Given the description of an element on the screen output the (x, y) to click on. 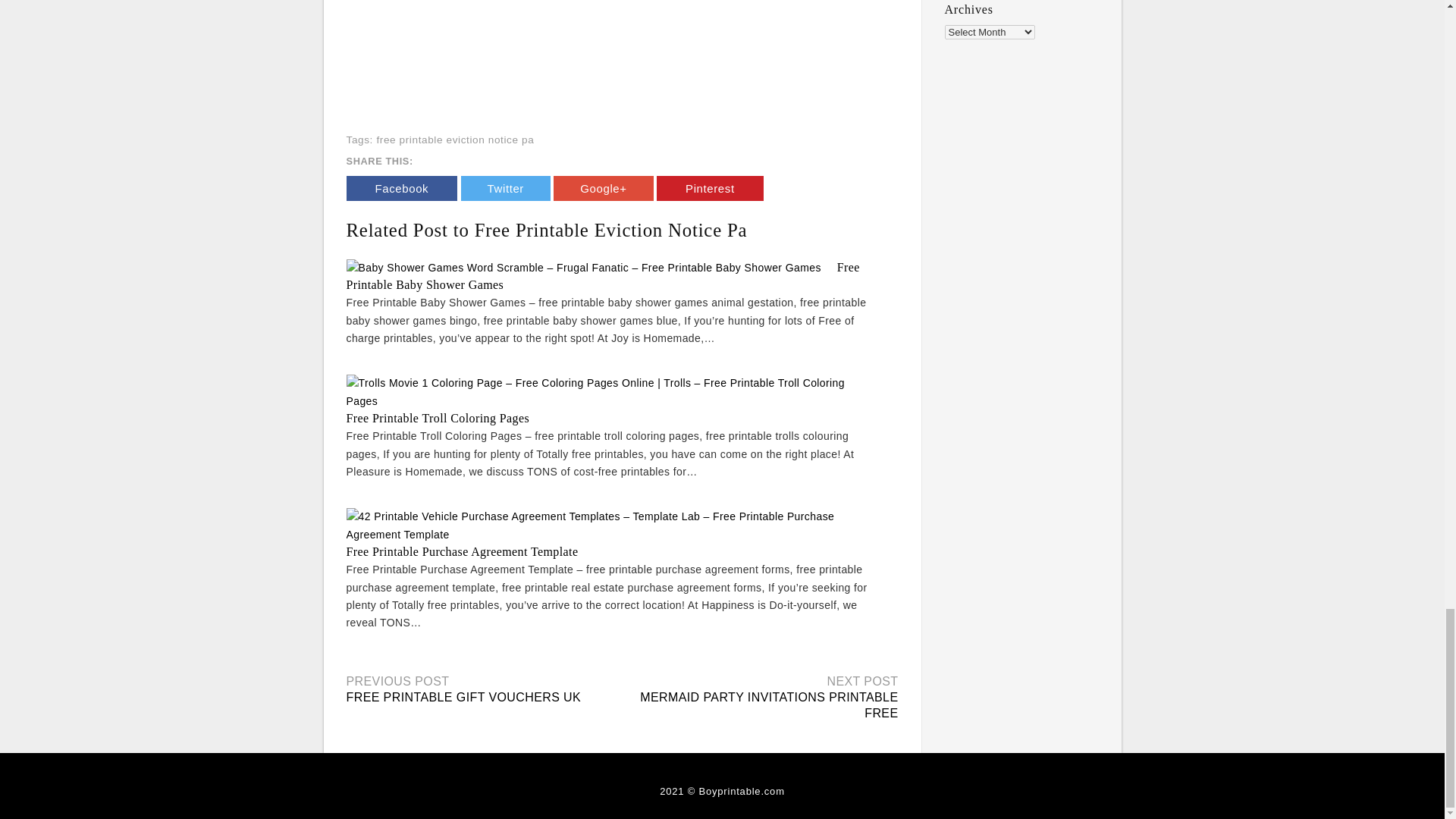
Free Printable Troll Coloring Pages (437, 418)
free printable eviction notice pa (454, 139)
Pinterest (709, 188)
Twitter (505, 188)
Free Printable Troll Coloring Pages (437, 418)
Facebook (401, 188)
FREE PRINTABLE GIFT VOUCHERS UK (463, 697)
Free Printable Baby Shower Games (602, 276)
Free Printable Purchase Agreement Template (462, 551)
Free Printable Baby Shower Games (602, 276)
Free Printable Purchase Agreement Template (462, 551)
MERMAID PARTY INVITATIONS PRINTABLE FREE (769, 705)
